Given the description of an element on the screen output the (x, y) to click on. 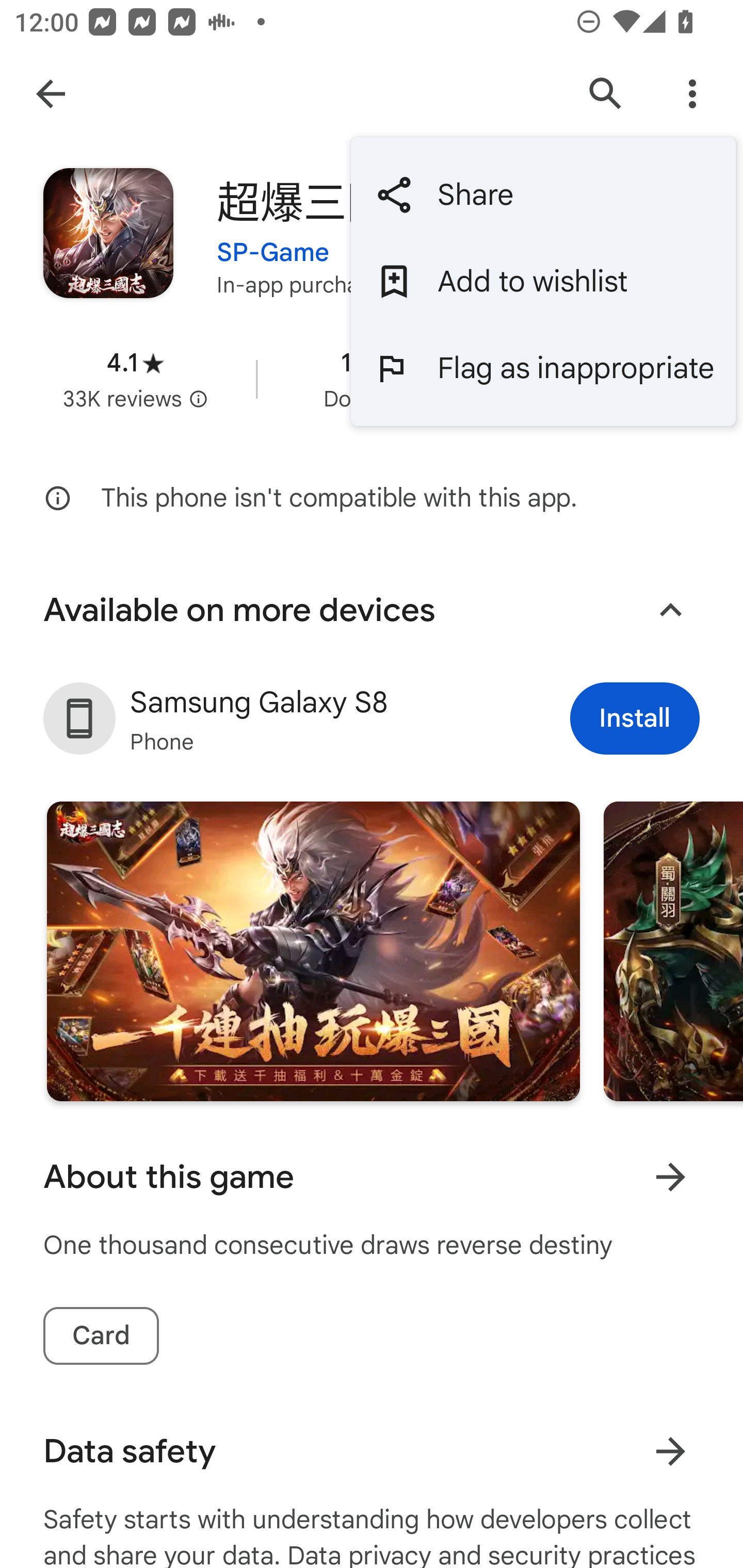
Share (542, 195)
Add to wishlist (542, 281)
Flag as inappropriate (542, 367)
